Given the description of an element on the screen output the (x, y) to click on. 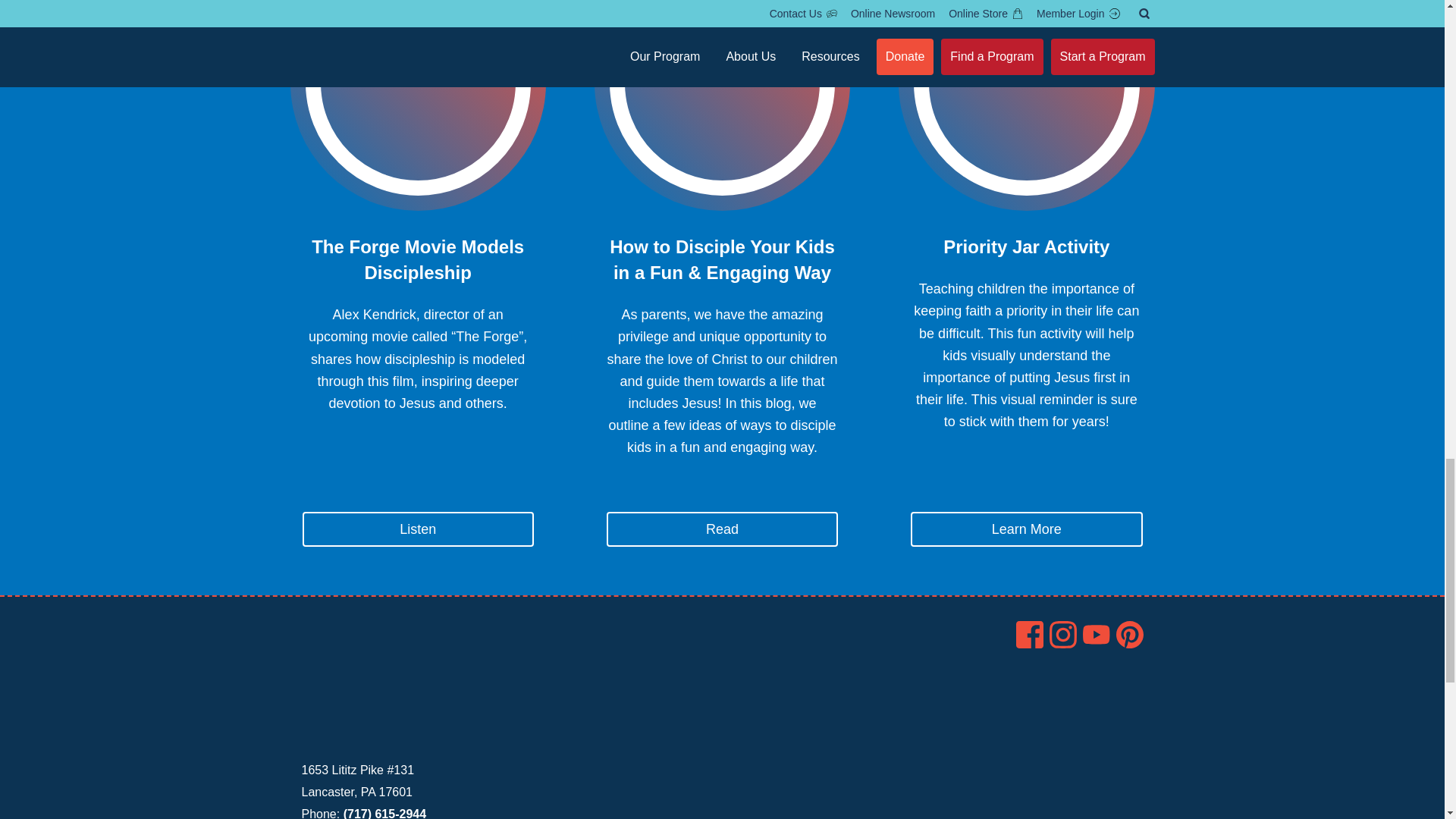
facebook (1029, 634)
Listen (416, 529)
youtubeCreated with Sketch. (1096, 634)
instagramCreated with Sketch. (1063, 634)
